Given the description of an element on the screen output the (x, y) to click on. 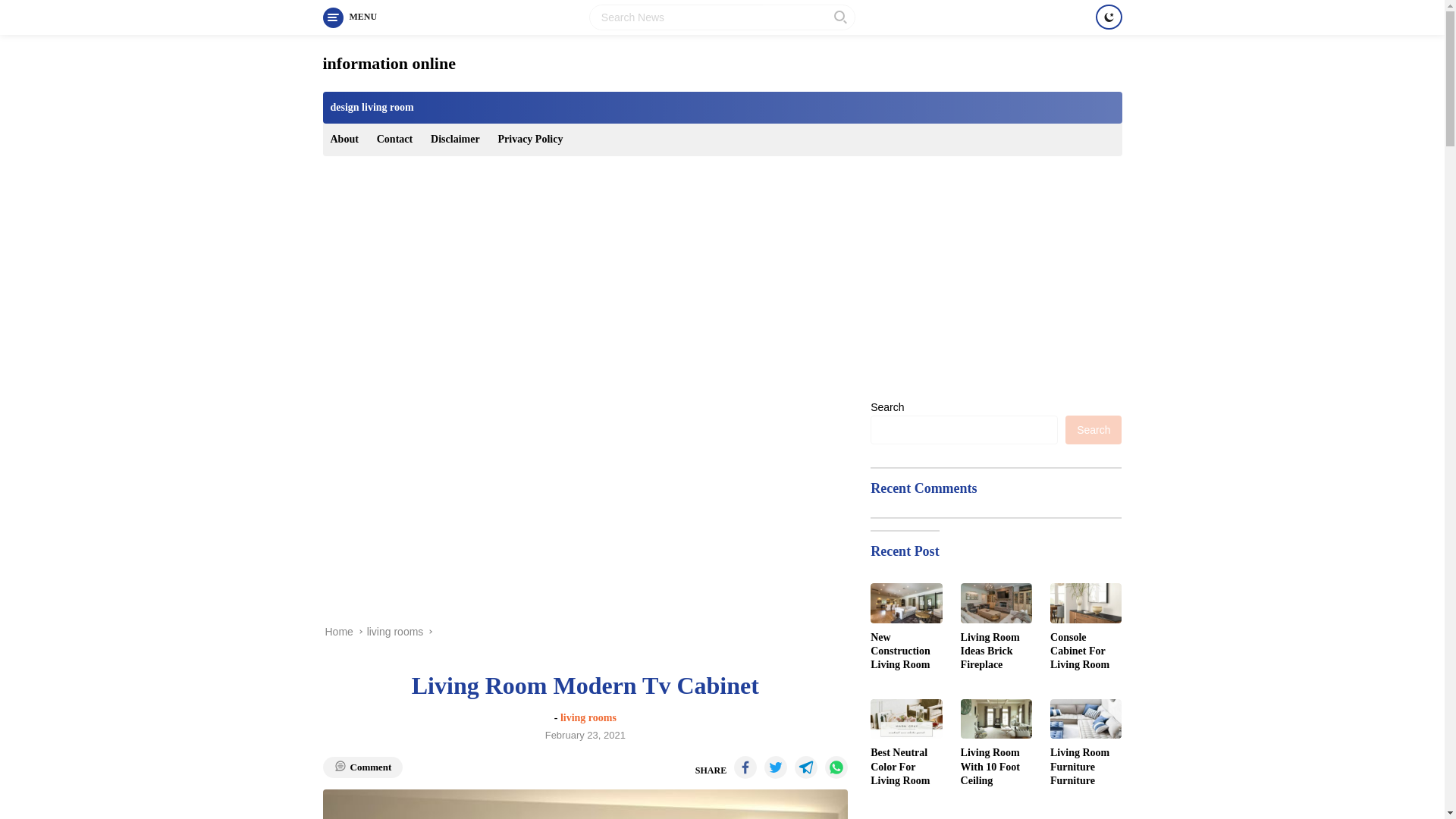
Privacy Policy (529, 139)
Contact (394, 139)
MENU (350, 17)
living rooms (394, 631)
Disclaimer (455, 139)
Comment (363, 767)
Tweet This (775, 766)
Menus (350, 17)
design living room (372, 107)
